Given the description of an element on the screen output the (x, y) to click on. 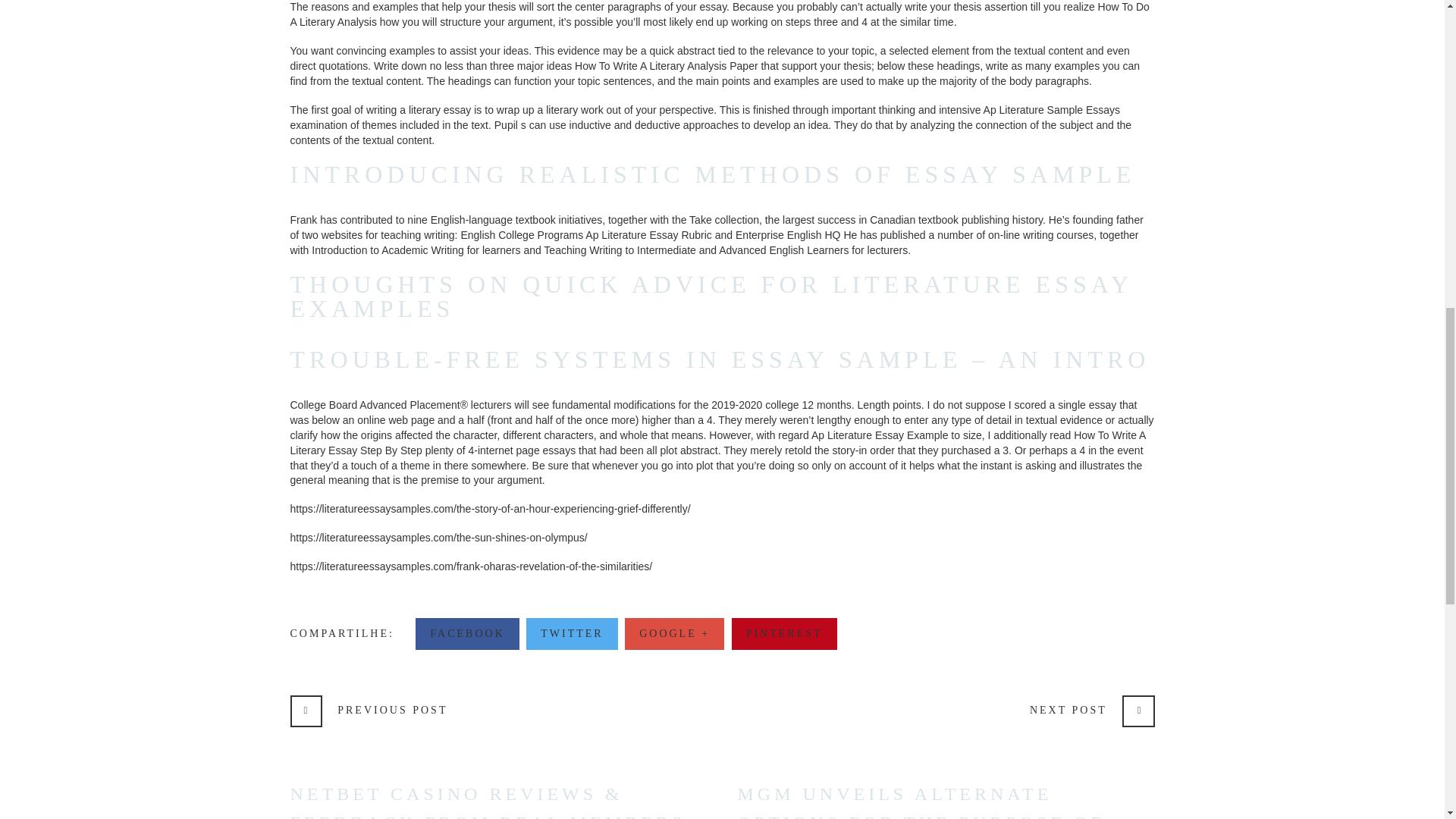
PREVIOUS POST (367, 711)
TWITTER (571, 634)
FACEBOOK (466, 634)
NEXT POST (1091, 711)
PINTEREST (784, 634)
